Given the description of an element on the screen output the (x, y) to click on. 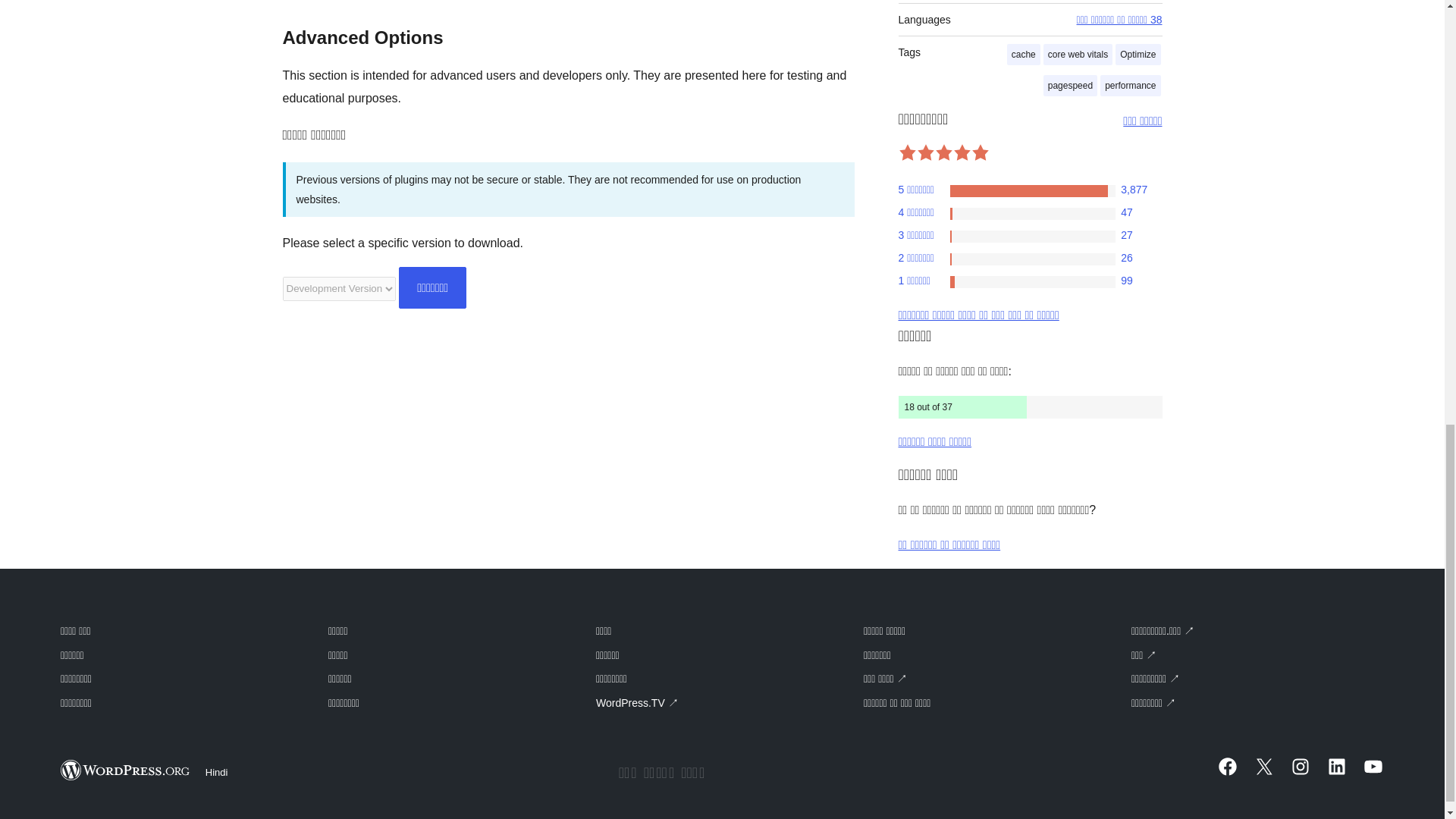
WordPress.org (125, 770)
